Given the description of an element on the screen output the (x, y) to click on. 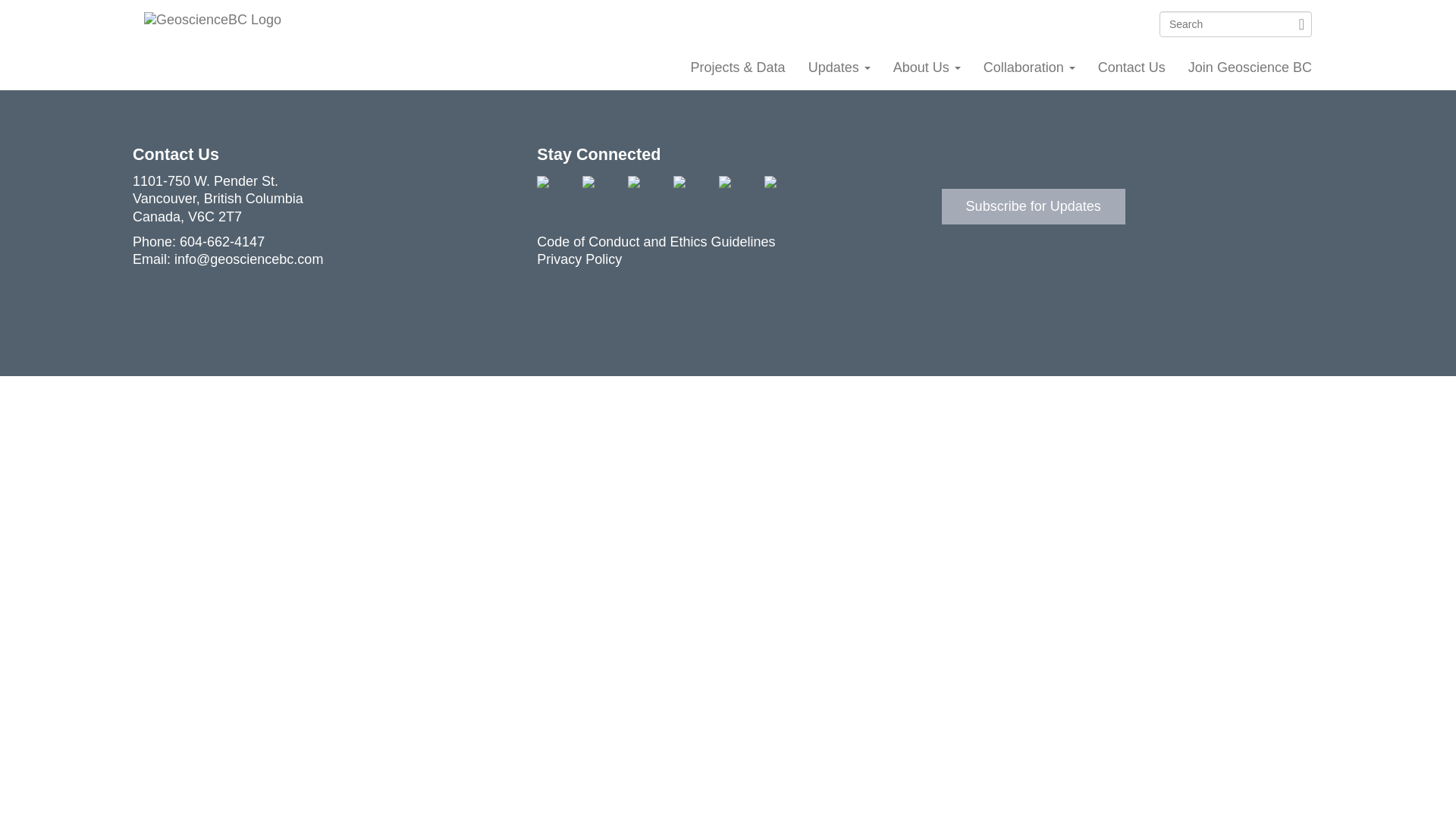
604-662-4147 (221, 241)
Join Geoscience BC (1249, 69)
Collaboration (1029, 69)
About Us (927, 69)
Contact Us (1131, 69)
Updates (839, 69)
